Given the description of an element on the screen output the (x, y) to click on. 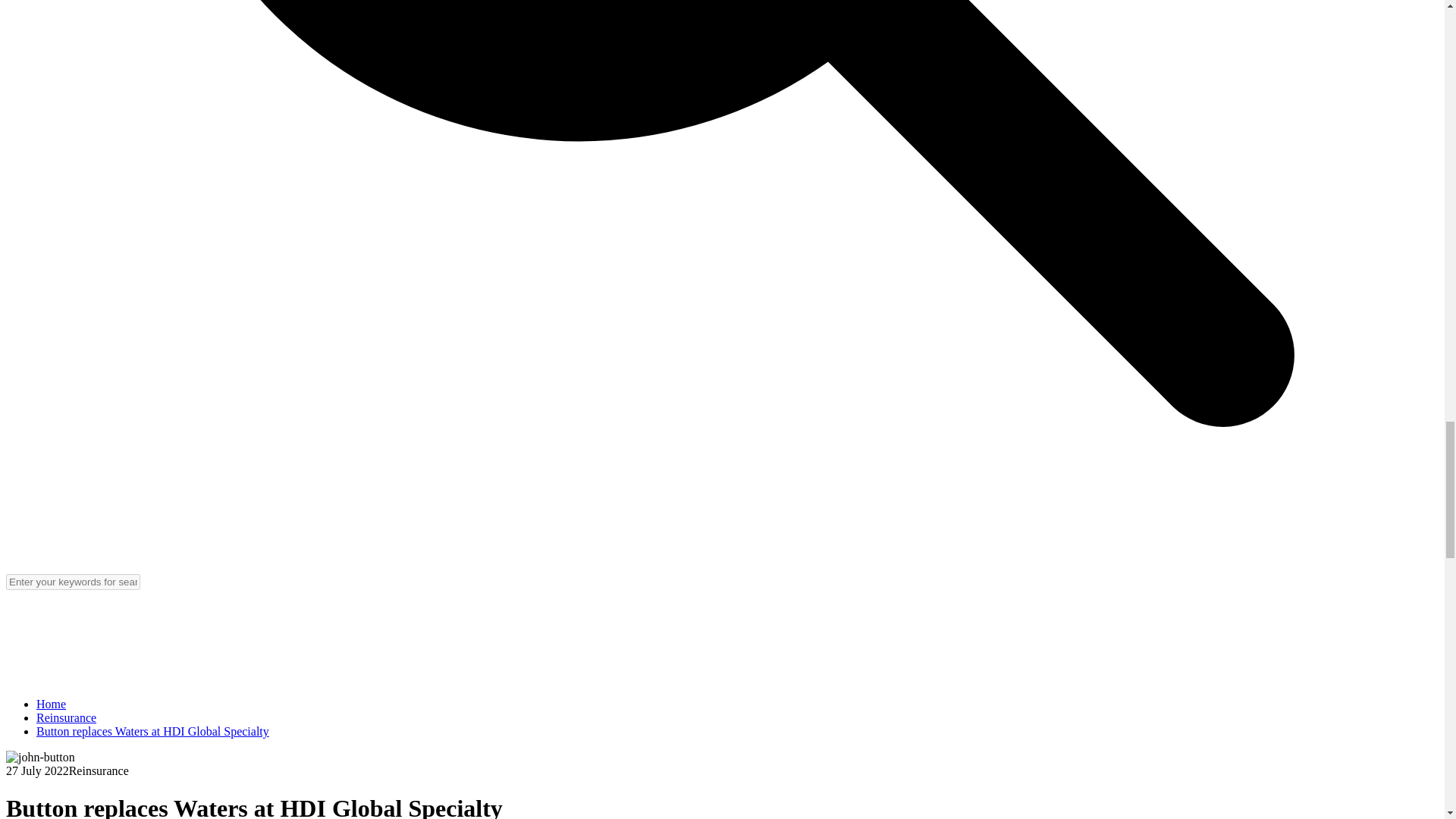
Reinsurance (66, 717)
Home (50, 703)
Button replaces Waters at HDI Global Specialty (152, 730)
